Given the description of an element on the screen output the (x, y) to click on. 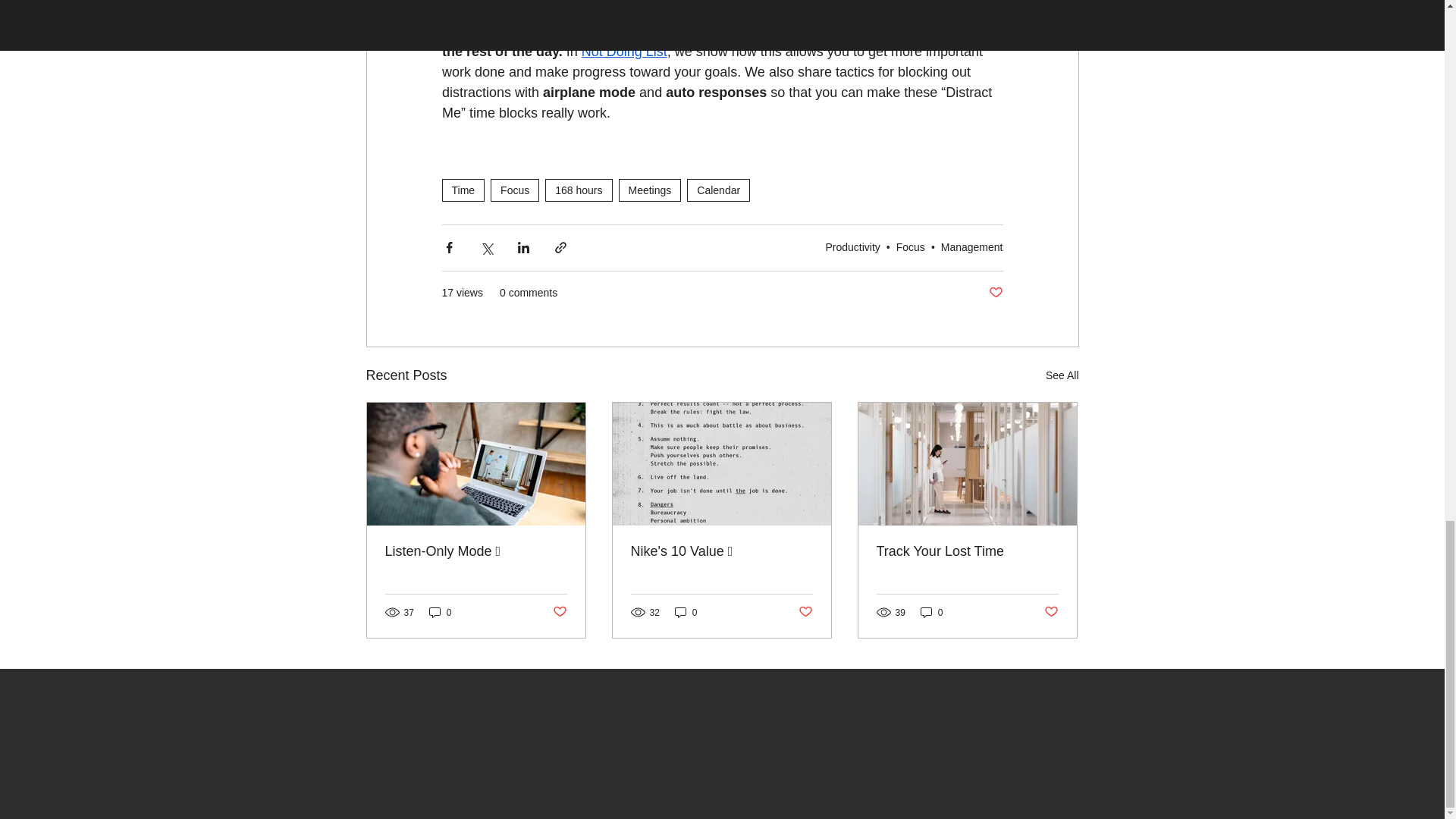
Not Doing List (623, 51)
Focus (910, 246)
Meetings (649, 190)
Time (462, 190)
Focus (514, 190)
Management (971, 246)
Post not marked as liked (995, 293)
168 hours (577, 190)
Productivity (852, 246)
Calendar (718, 190)
